Given the description of an element on the screen output the (x, y) to click on. 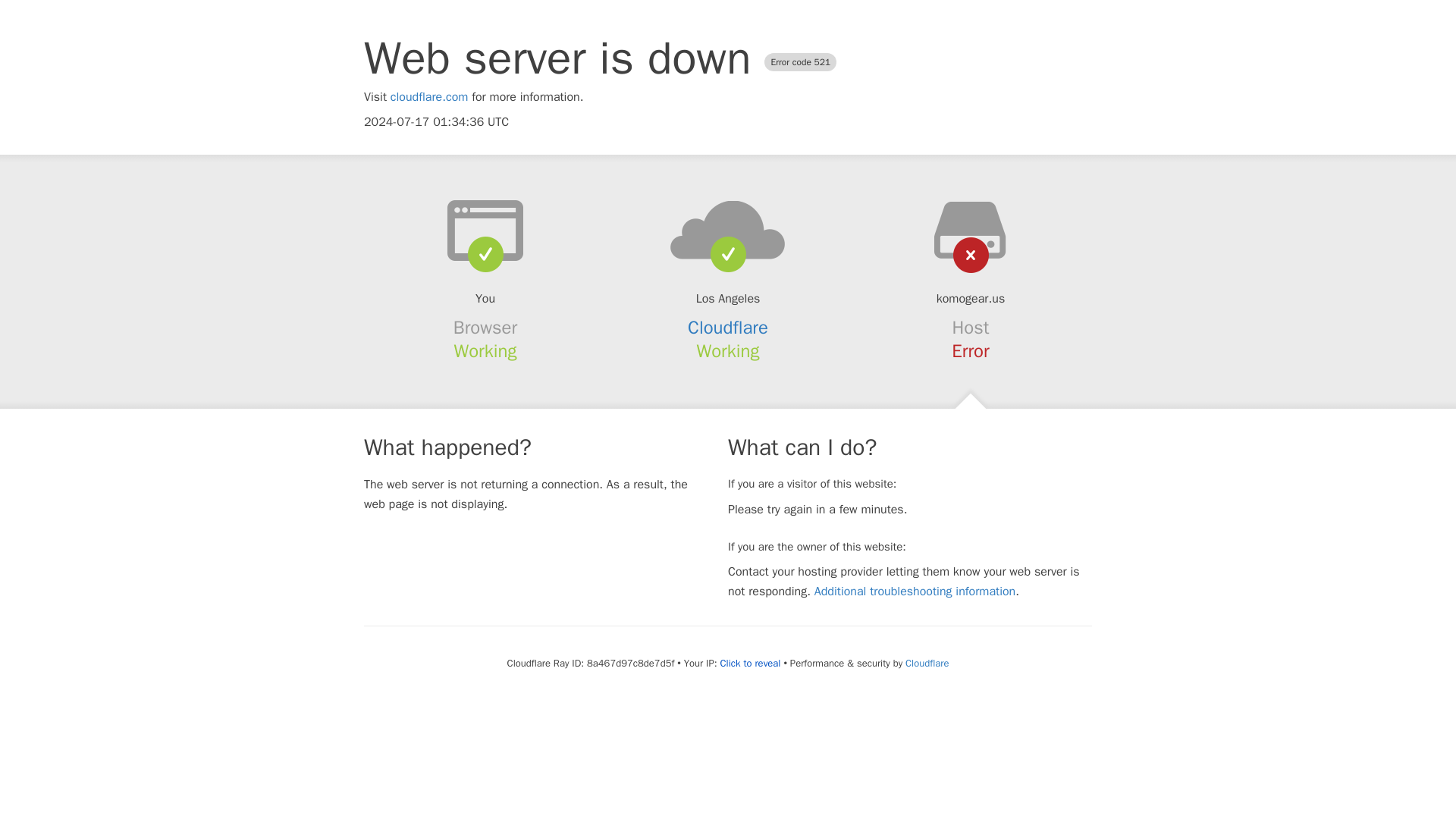
Cloudflare (927, 662)
Click to reveal (750, 663)
Additional troubleshooting information (913, 590)
Cloudflare (727, 327)
cloudflare.com (429, 96)
